Given the description of an element on the screen output the (x, y) to click on. 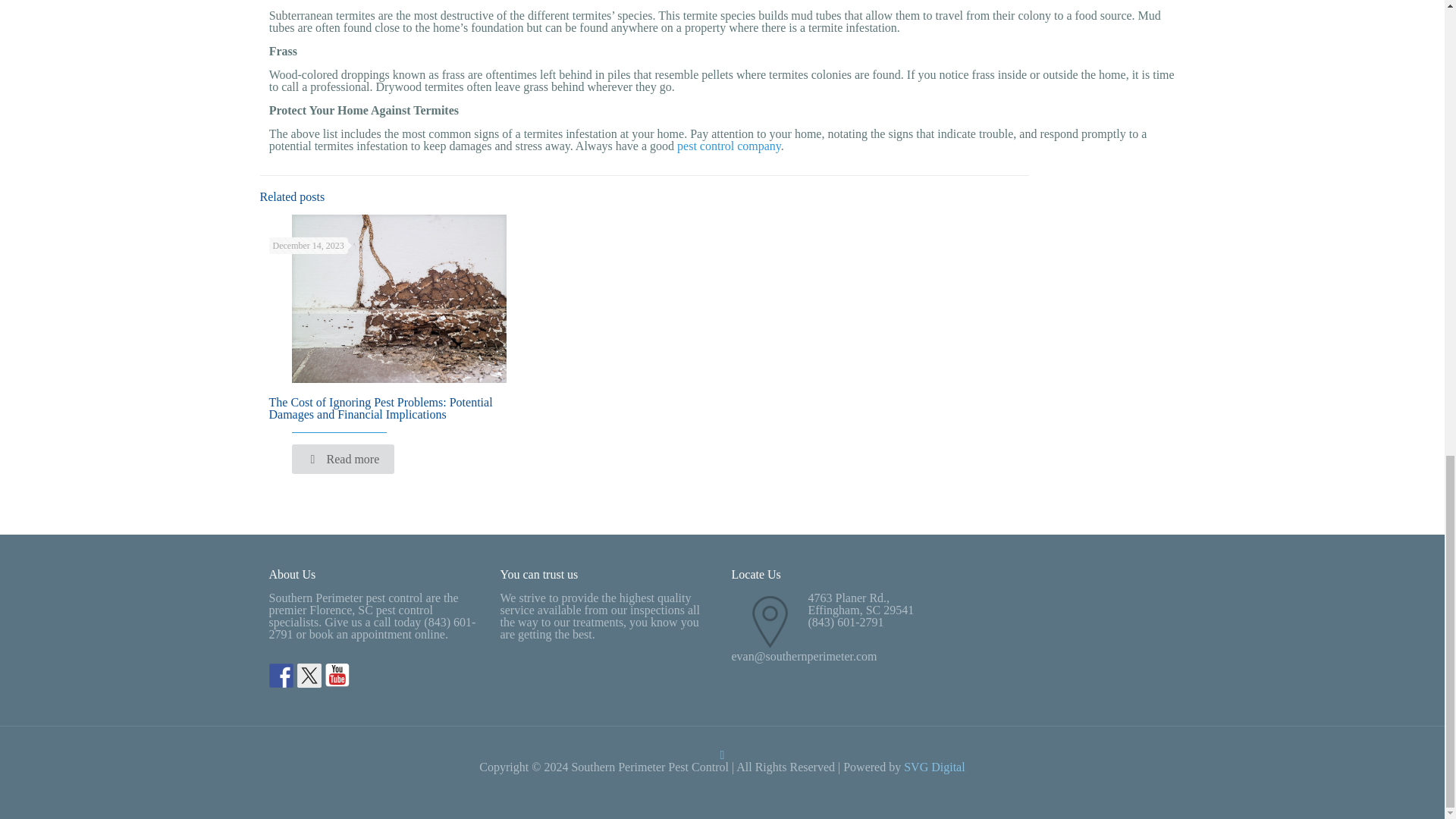
Find us on YouTube (336, 675)
Read more (342, 459)
pest control company (728, 145)
Follow us on Facebook (279, 675)
Follow us on Twitter (309, 675)
SVG Digital (933, 766)
